Given the description of an element on the screen output the (x, y) to click on. 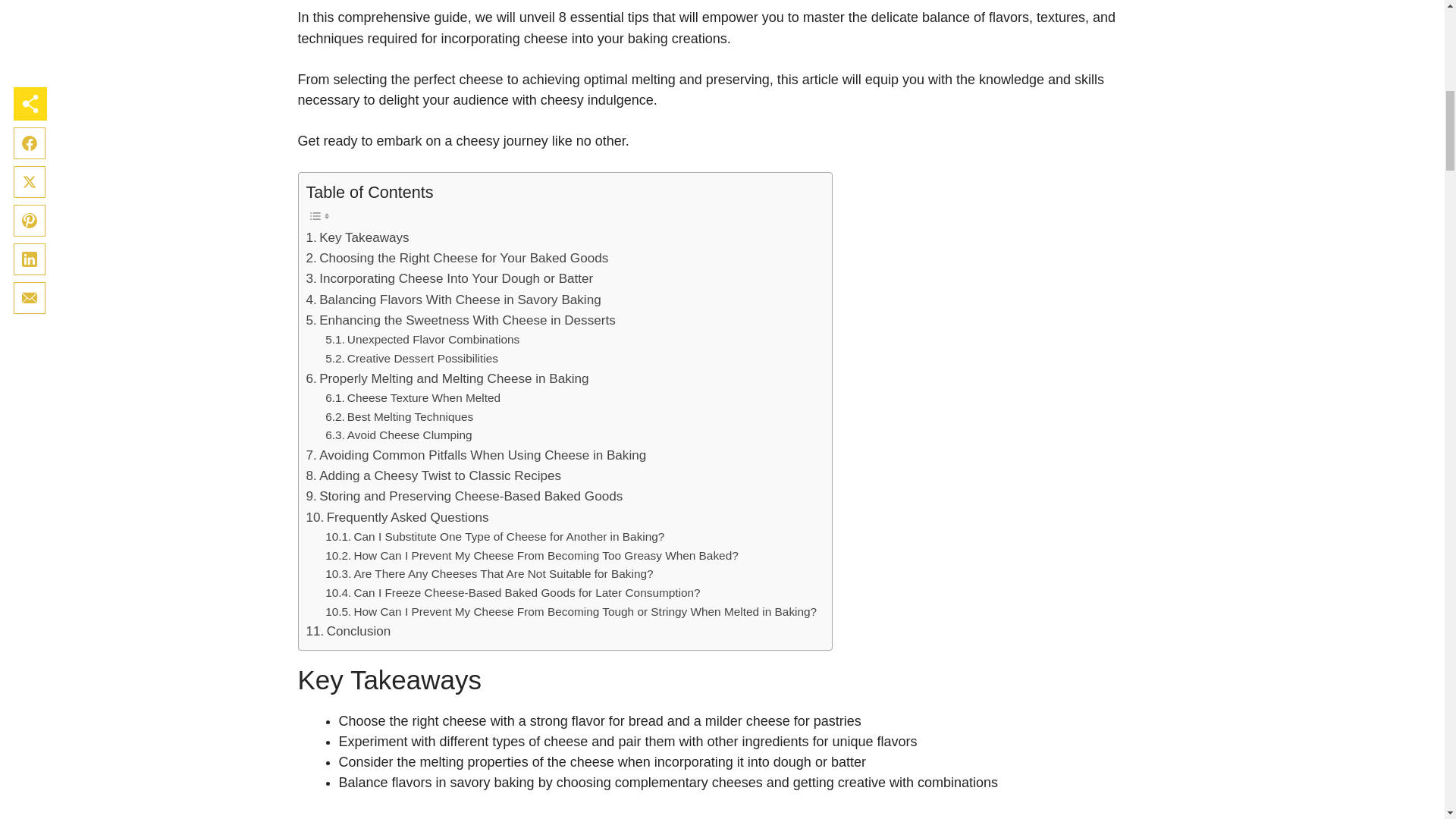
Incorporating Cheese Into Your Dough or Batter (449, 278)
Choosing the Right Cheese for Your Baked Goods (456, 258)
Properly Melting and Melting Cheese in Baking (447, 378)
Avoid Cheese Clumping (397, 435)
Key Takeaways (357, 237)
Enhancing the Sweetness With Cheese in Desserts (460, 320)
Best Melting Techniques (398, 416)
Unexpected Flavor Combinations (421, 339)
Cheese Texture When Melted (412, 398)
Balancing Flavors With Cheese in Savory Baking (453, 299)
Creative Dessert Possibilities (410, 358)
